Given the description of an element on the screen output the (x, y) to click on. 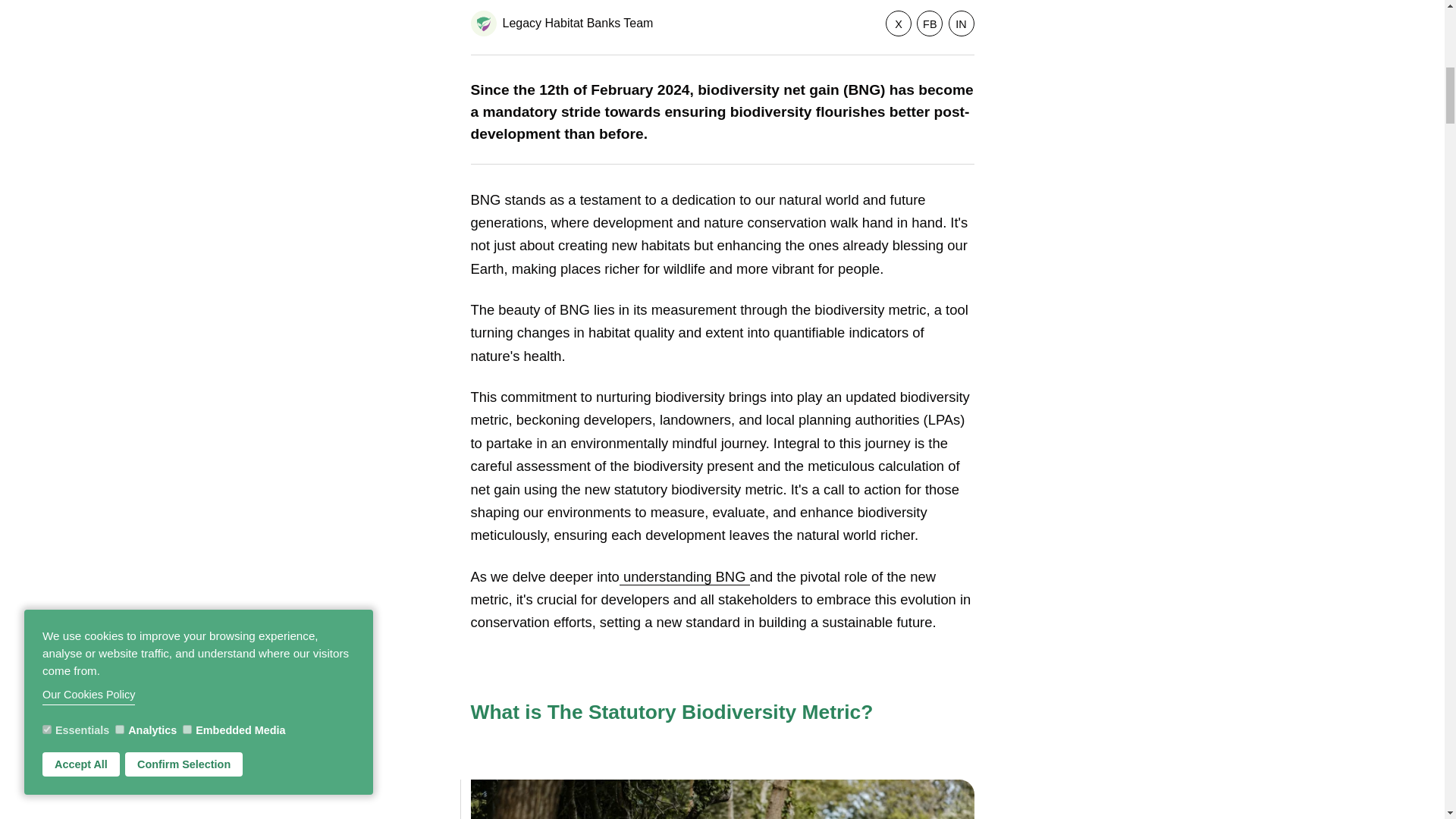
Share on LinkedIn (960, 23)
Share on Facebook (929, 23)
X (898, 23)
FB (929, 23)
IN (960, 23)
understanding BNG (684, 576)
Share on X (898, 23)
